Given the description of an element on the screen output the (x, y) to click on. 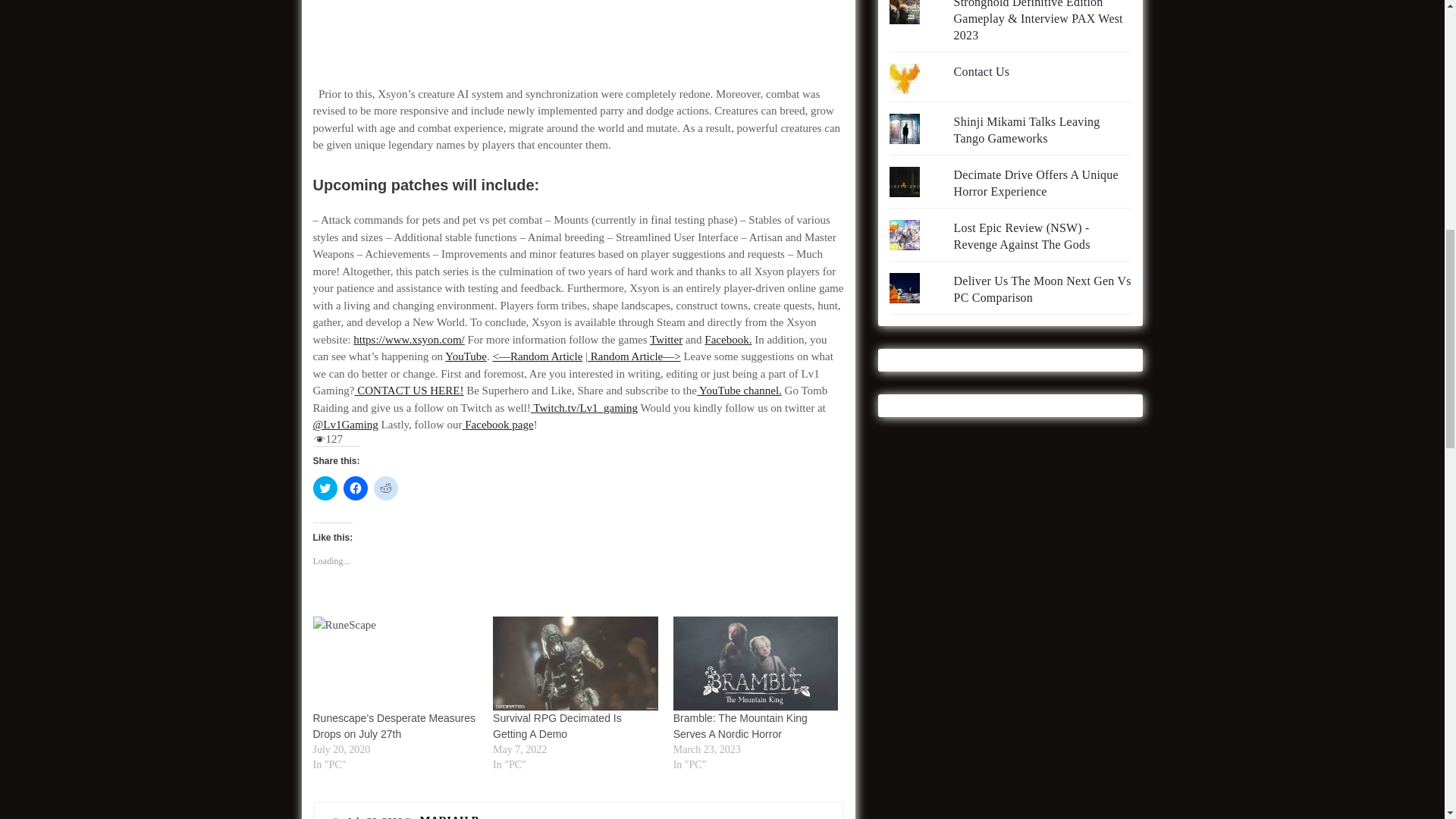
CONTACT US HERE! (408, 390)
Click to share on Facebook (354, 487)
Bramble: The Mountain King  Serves A Nordic Horror (740, 725)
YouTube (465, 356)
Twitter (665, 339)
Survival RPG Decimated Is Getting A Demo (557, 725)
Click to share on Twitter (324, 487)
Survival RPG Decimated Is Getting A Demo (575, 663)
Click to share on Reddit (384, 487)
Bramble: The Mountain King  Serves A Nordic Horror (755, 663)
